Given the description of an element on the screen output the (x, y) to click on. 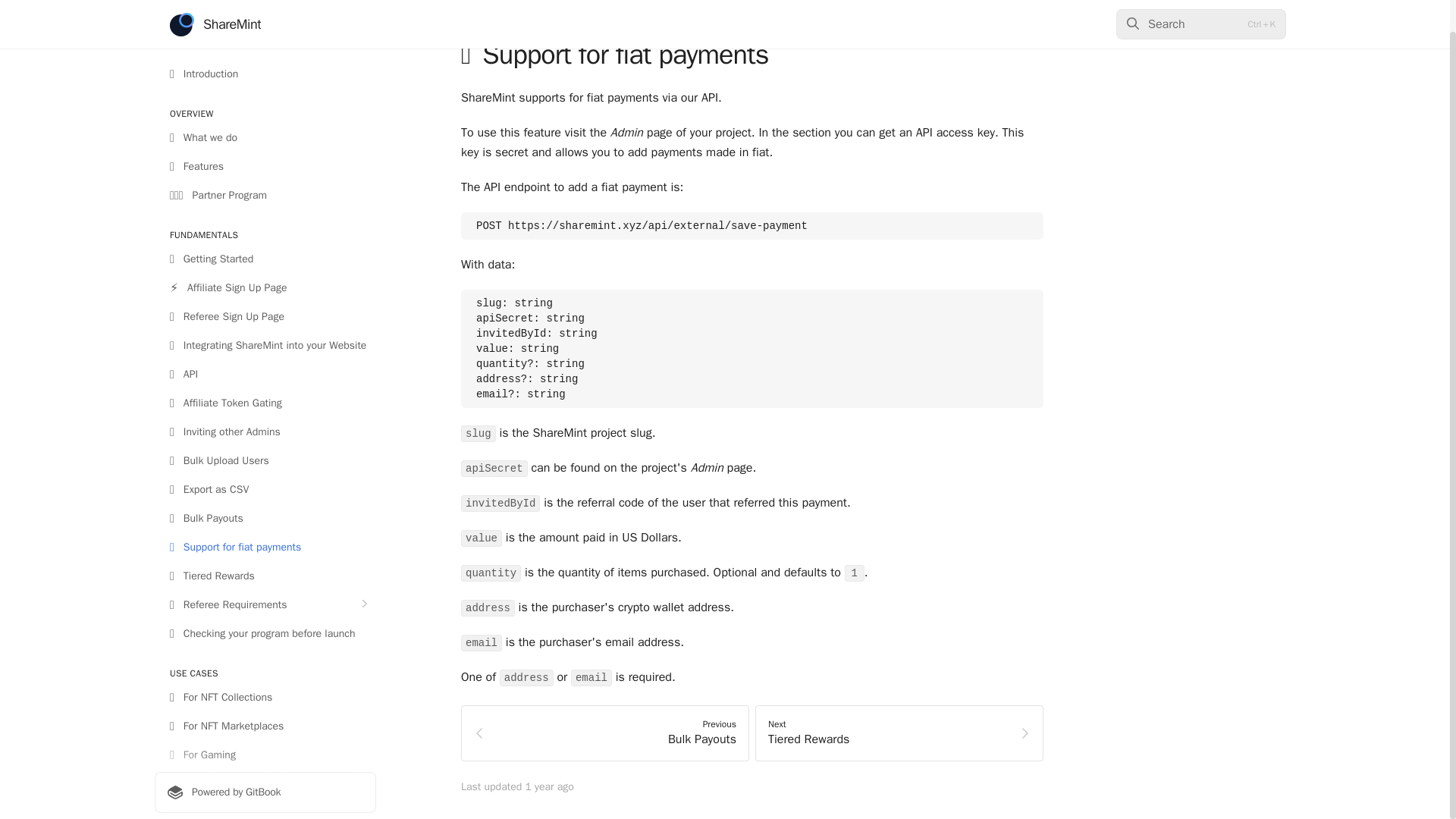
ShareMint (215, 1)
Powered by GitBook (605, 733)
